Given the description of an element on the screen output the (x, y) to click on. 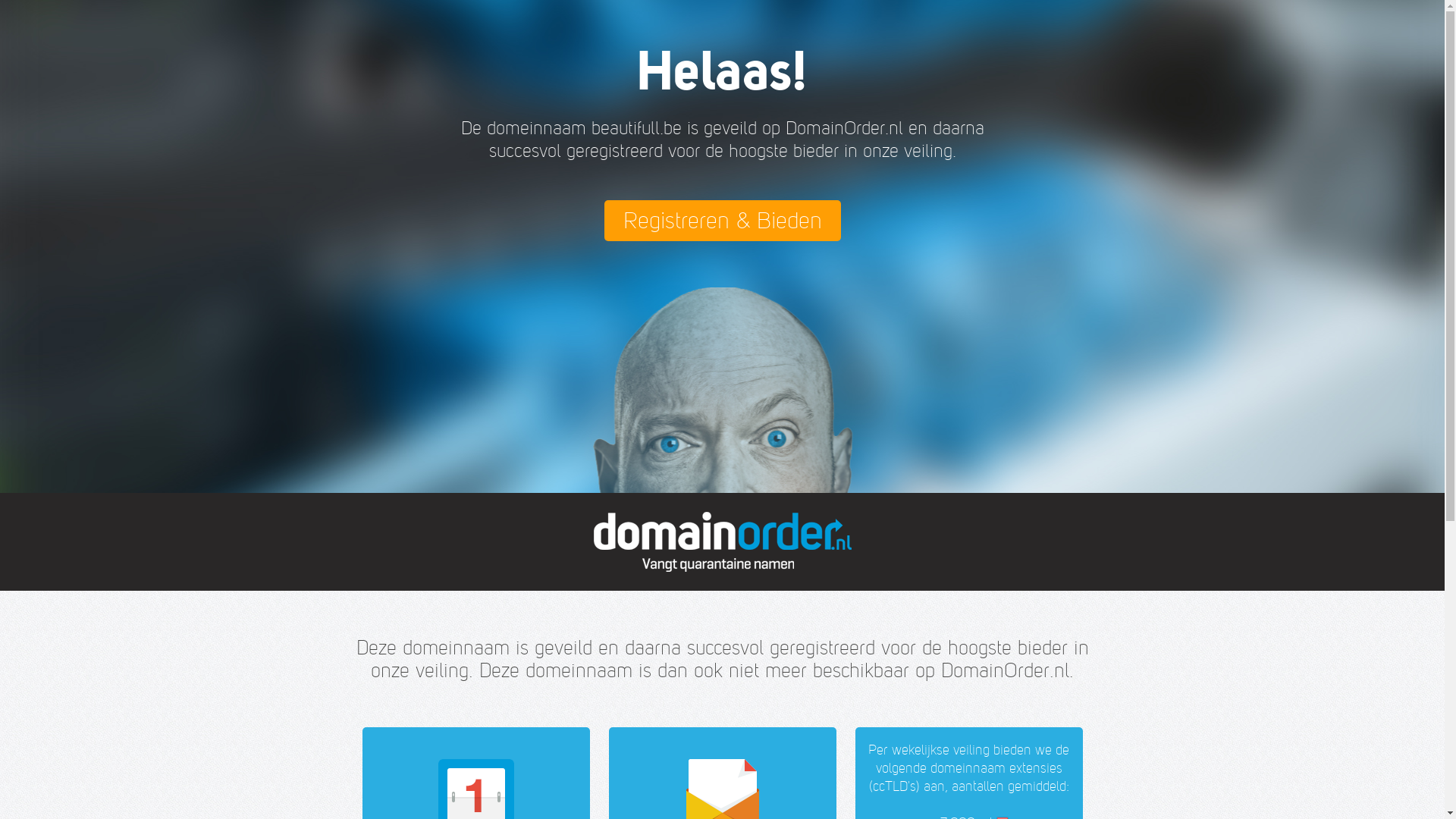
Registreren & Bieden Element type: text (721, 220)
